Given the description of an element on the screen output the (x, y) to click on. 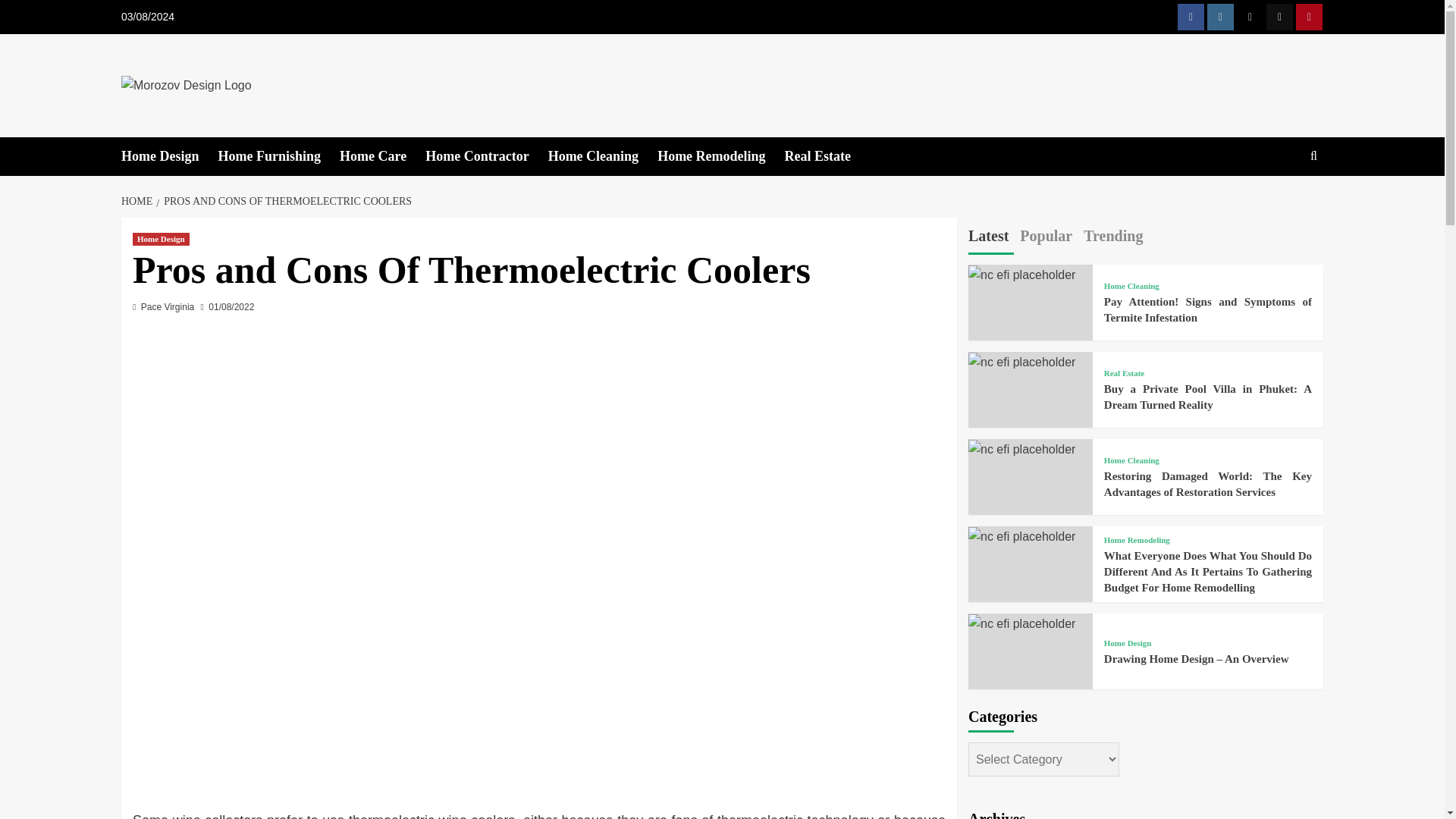
Facebook (1190, 17)
Real Estate (826, 156)
Twitter (1249, 17)
Home Furnishing (279, 156)
Home Remodeling (721, 156)
Buy a Private Pool Villa in Phuket: A Dream Turned Reality (1021, 362)
HOME (137, 201)
Pinterest (1308, 17)
Home Care (382, 156)
